Given the description of an element on the screen output the (x, y) to click on. 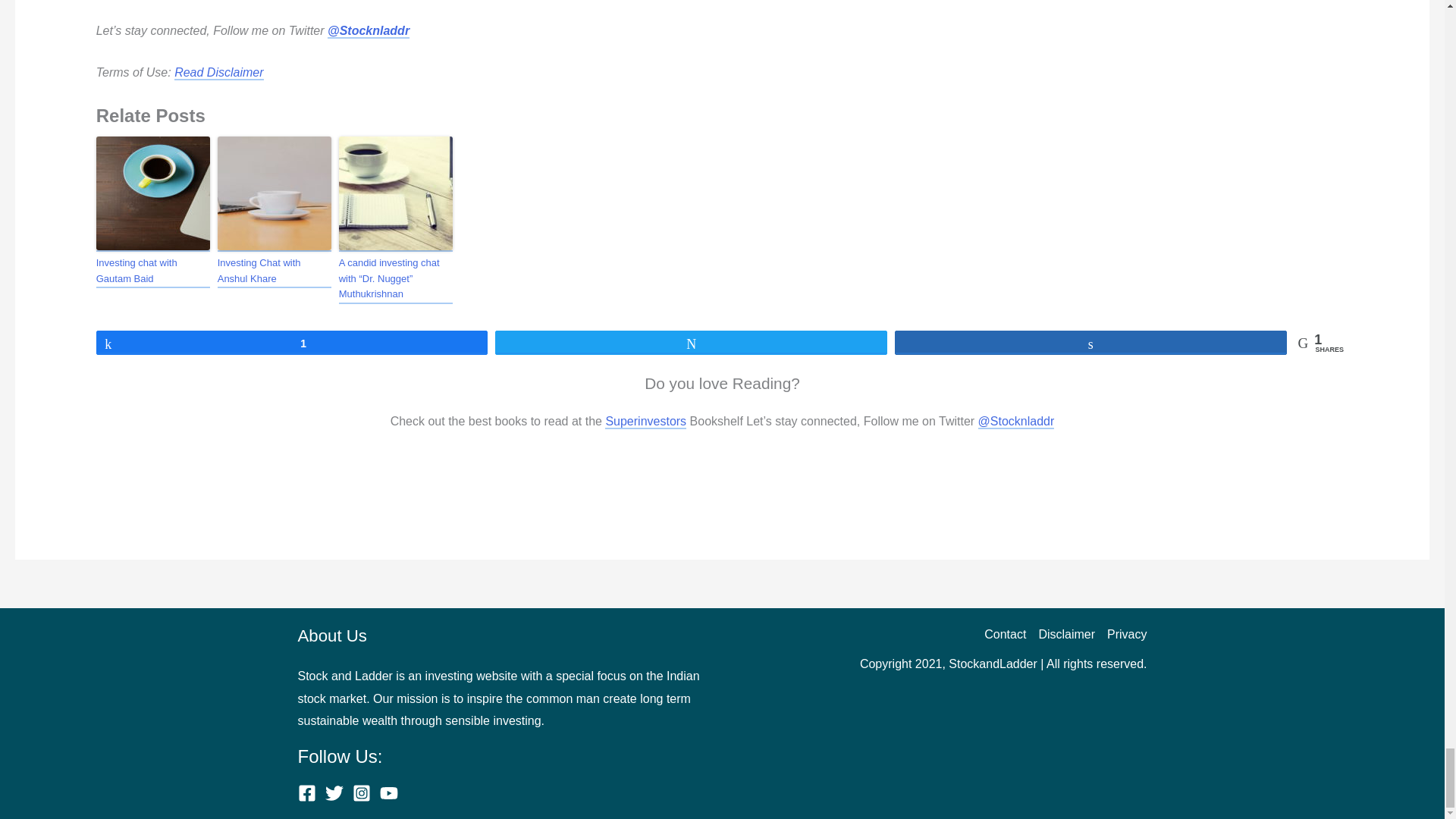
Investing chat with Gautam Baid (152, 272)
Read Disclaimer (218, 73)
